Given the description of an element on the screen output the (x, y) to click on. 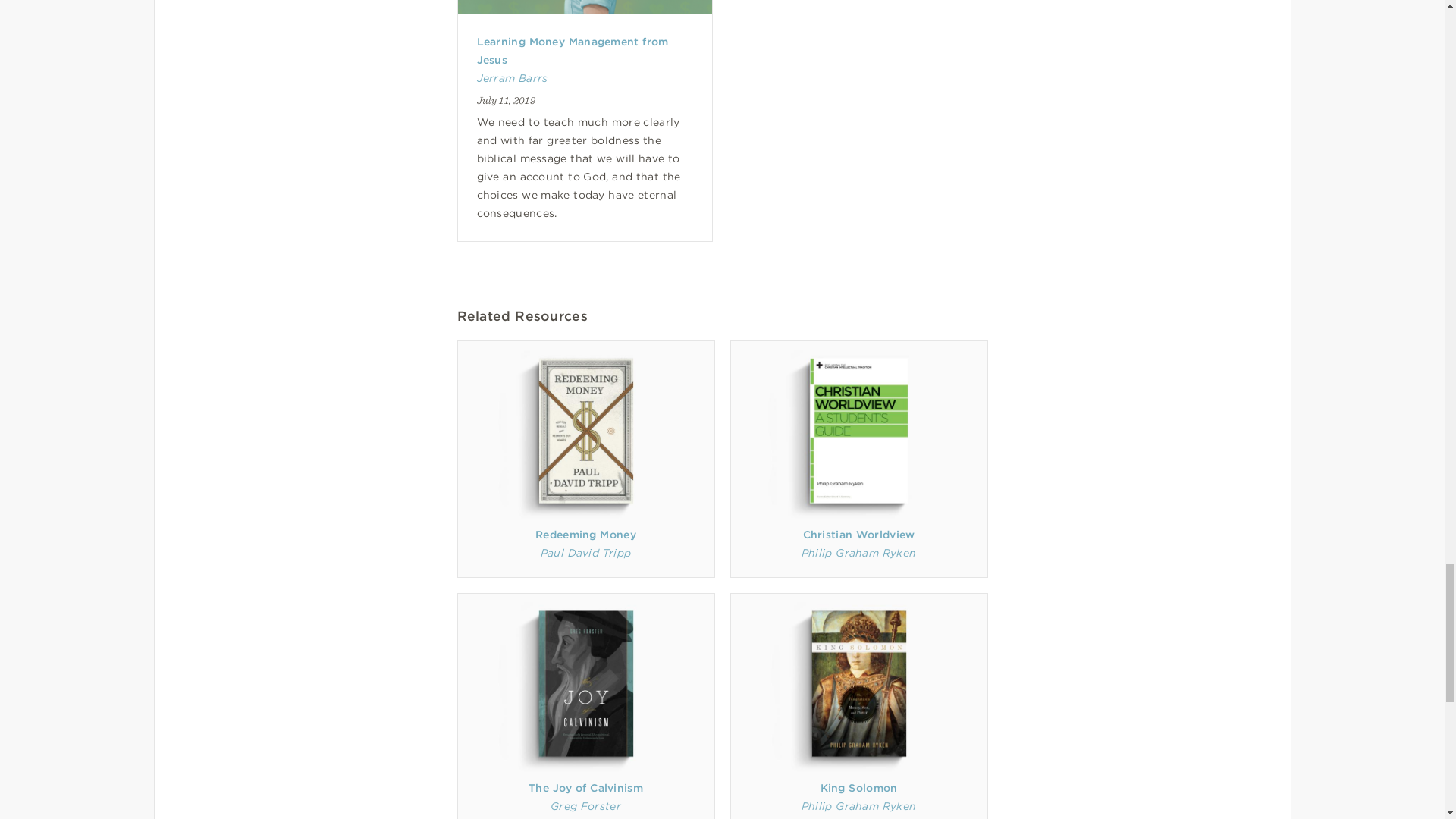
Christian Worldview (858, 534)
Greg Forster (585, 806)
Learning Money Management from Jesus (572, 51)
King Solomon (859, 787)
Jerram Barrs (511, 78)
Philip Graham Ryken (858, 552)
Redeeming Money (585, 534)
Philip Graham Ryken (858, 806)
The Joy of Calvinism (585, 787)
Paul David Tripp (585, 552)
